Given the description of an element on the screen output the (x, y) to click on. 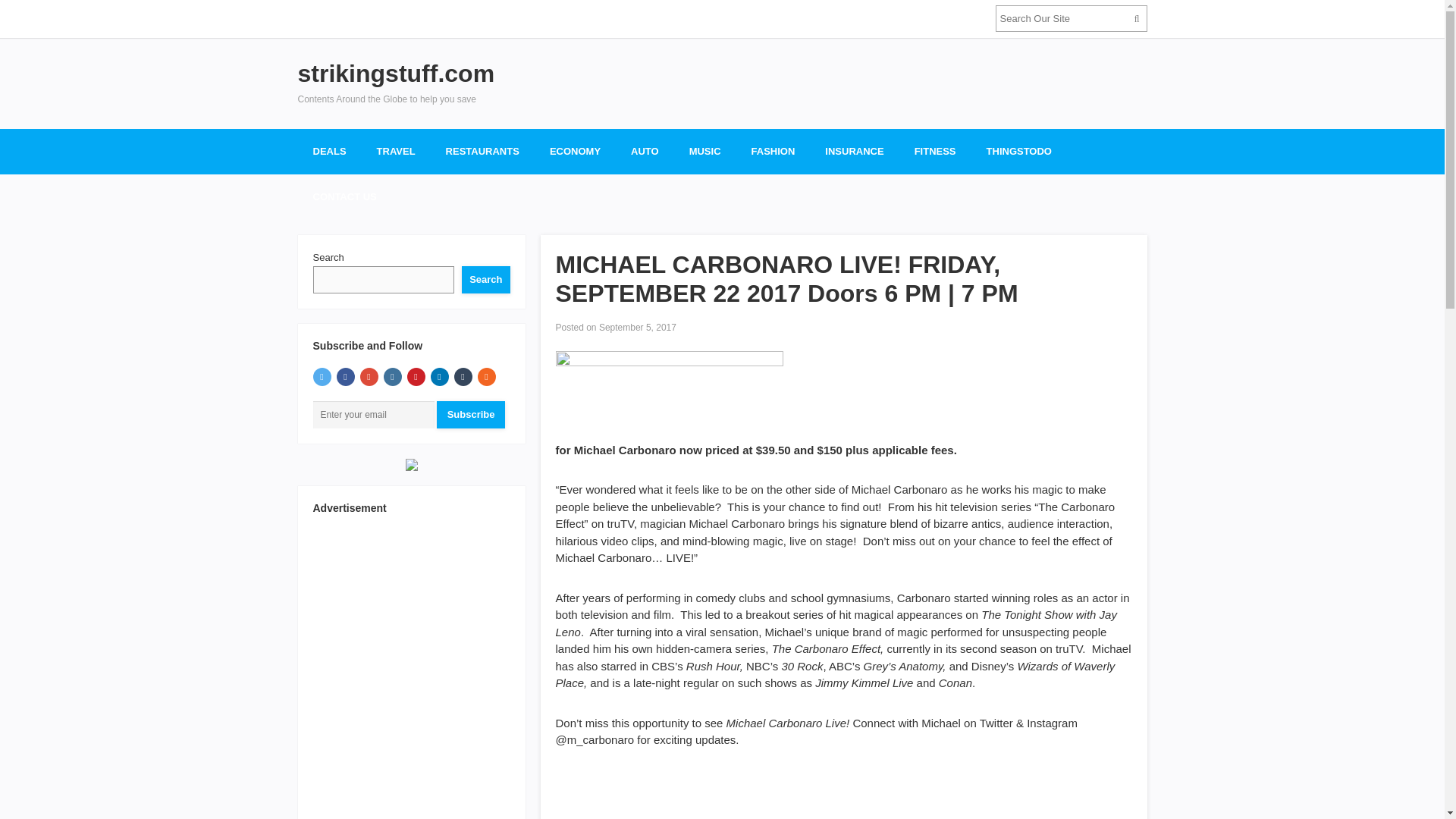
FASHION (773, 151)
MUSIC (705, 151)
ECONOMY (574, 151)
TRAVEL (395, 151)
strikingstuff.com (396, 72)
DEALS (329, 151)
RESTAURANTS (482, 151)
AUTO (644, 151)
